Given the description of an element on the screen output the (x, y) to click on. 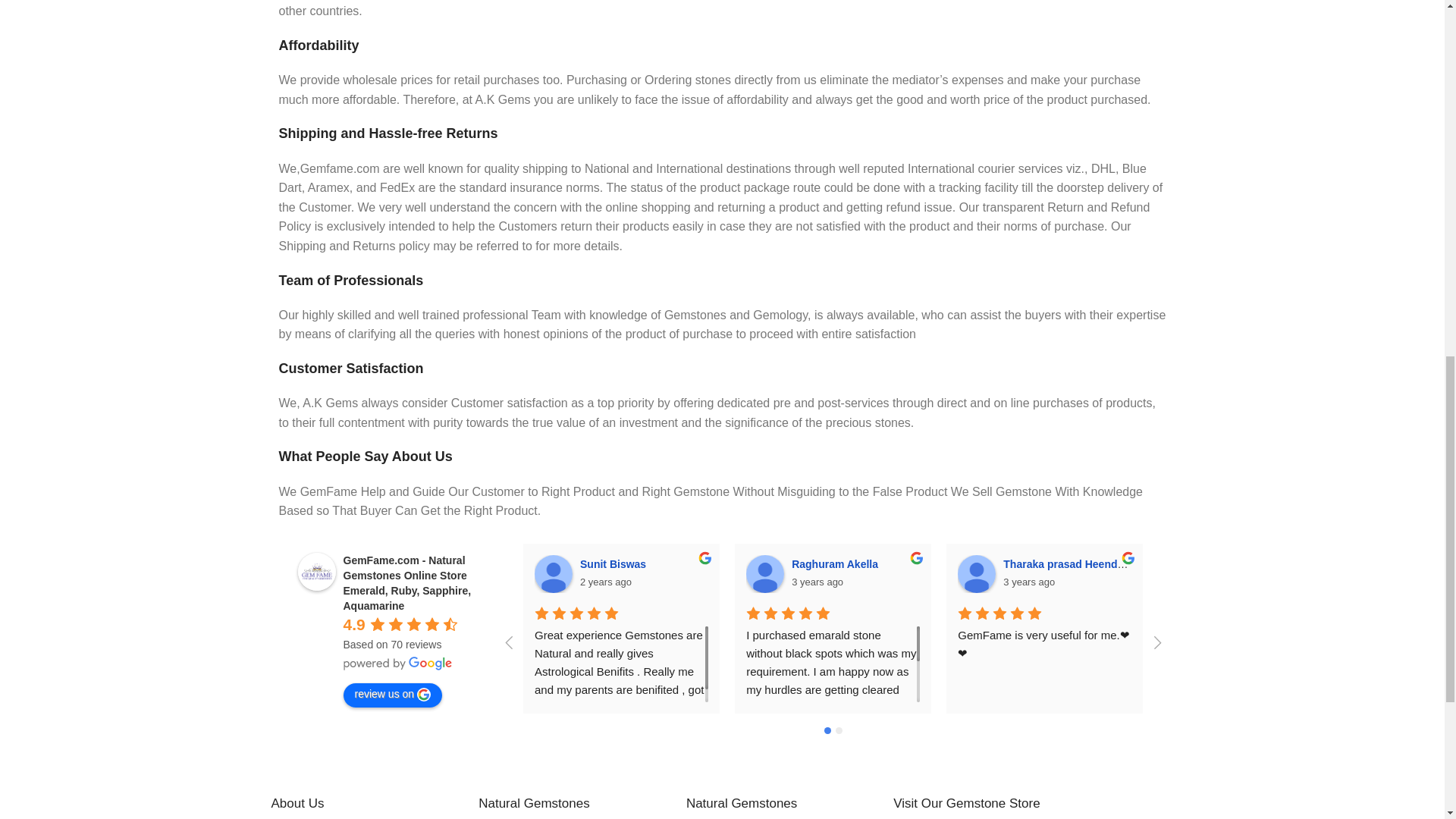
Sunit Biswas (553, 573)
powered by Google (396, 663)
Tharaka prasad Heendeniya (976, 573)
Raghuram Akella (764, 573)
